Given the description of an element on the screen output the (x, y) to click on. 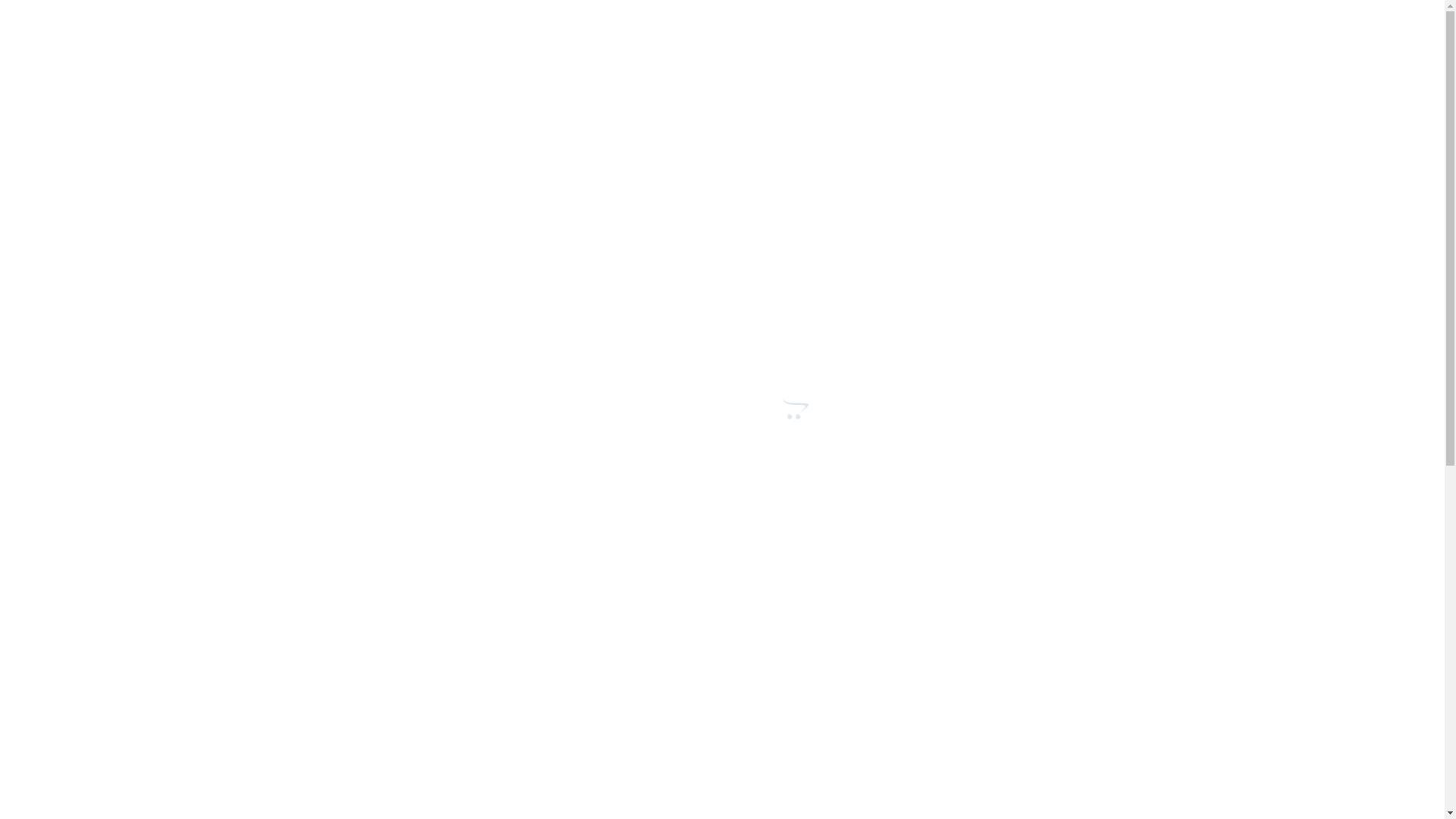
HOME Element type: text (516, 121)
MIJN ACCOUNT Element type: text (930, 121)
Onderhoud Element type: text (945, 553)
Frilinglei 89 2930 Brasschaat Element type: text (920, 35)
Q&A Element type: text (847, 121)
Alle Producten Element type: text (866, 553)
WEBSHOP Element type: text (675, 121)
luxe in uw eigen tuin Element type: text (306, 185)
REALISATIES Element type: text (769, 121)
CONTACT Element type: text (588, 121)
Add to wishlist Element type: text (819, 455)
Beoordelingen (0) Element type: text (432, 627)
Add To Cart Element type: text (846, 397)
